Given the description of an element on the screen output the (x, y) to click on. 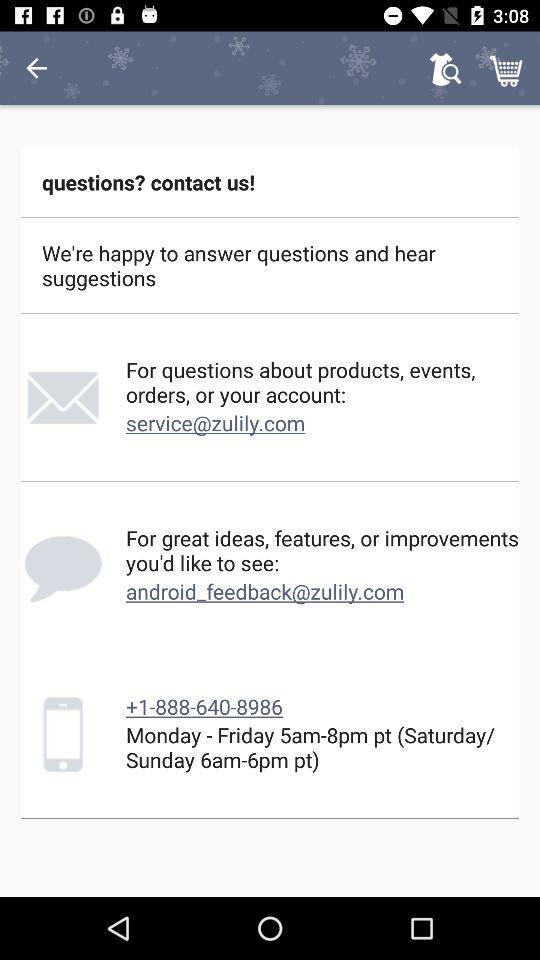
click icon below android_feedback@zulily.com item (204, 706)
